Given the description of an element on the screen output the (x, y) to click on. 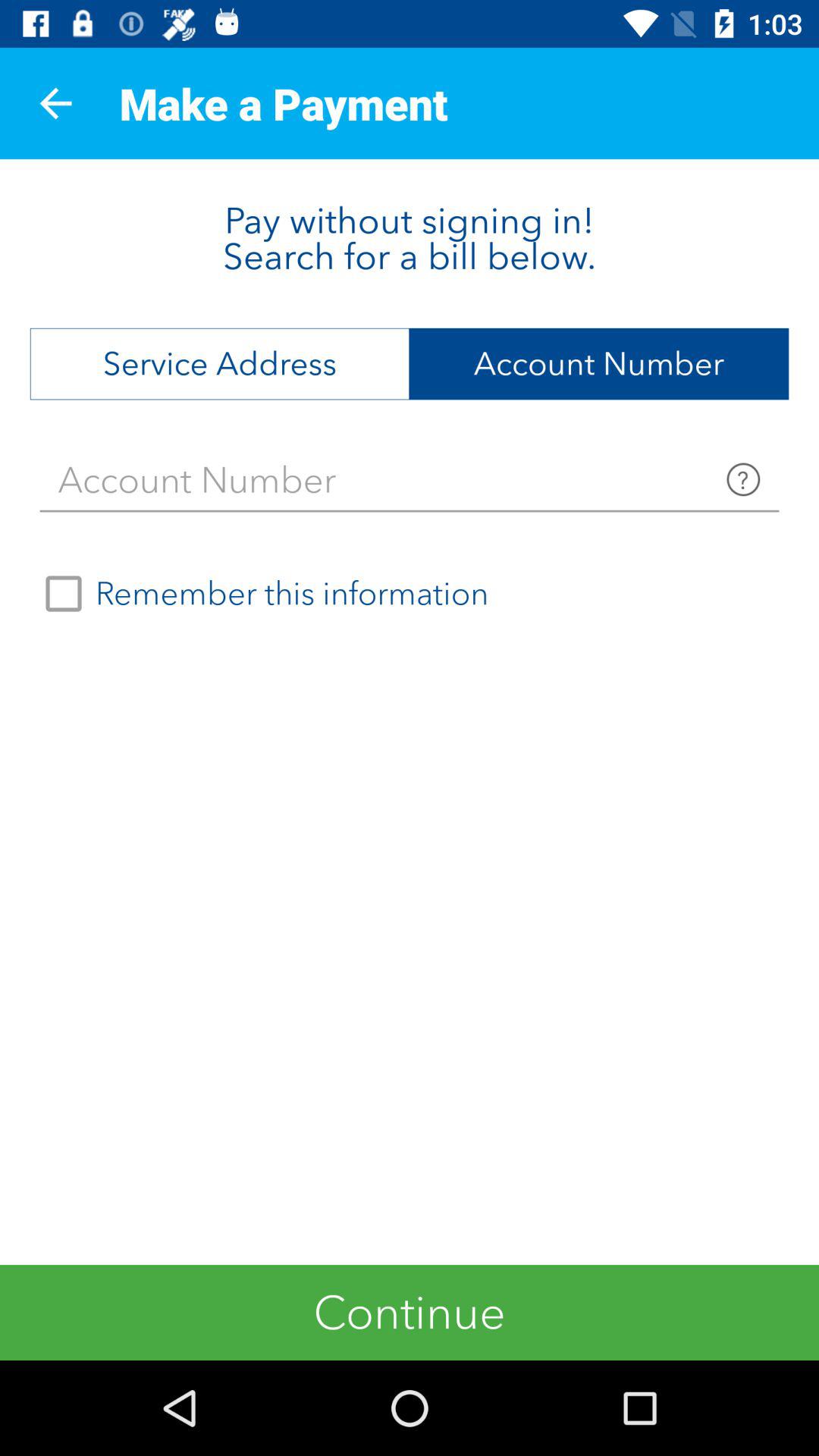
launch the icon above pay without signing item (55, 103)
